Given the description of an element on the screen output the (x, y) to click on. 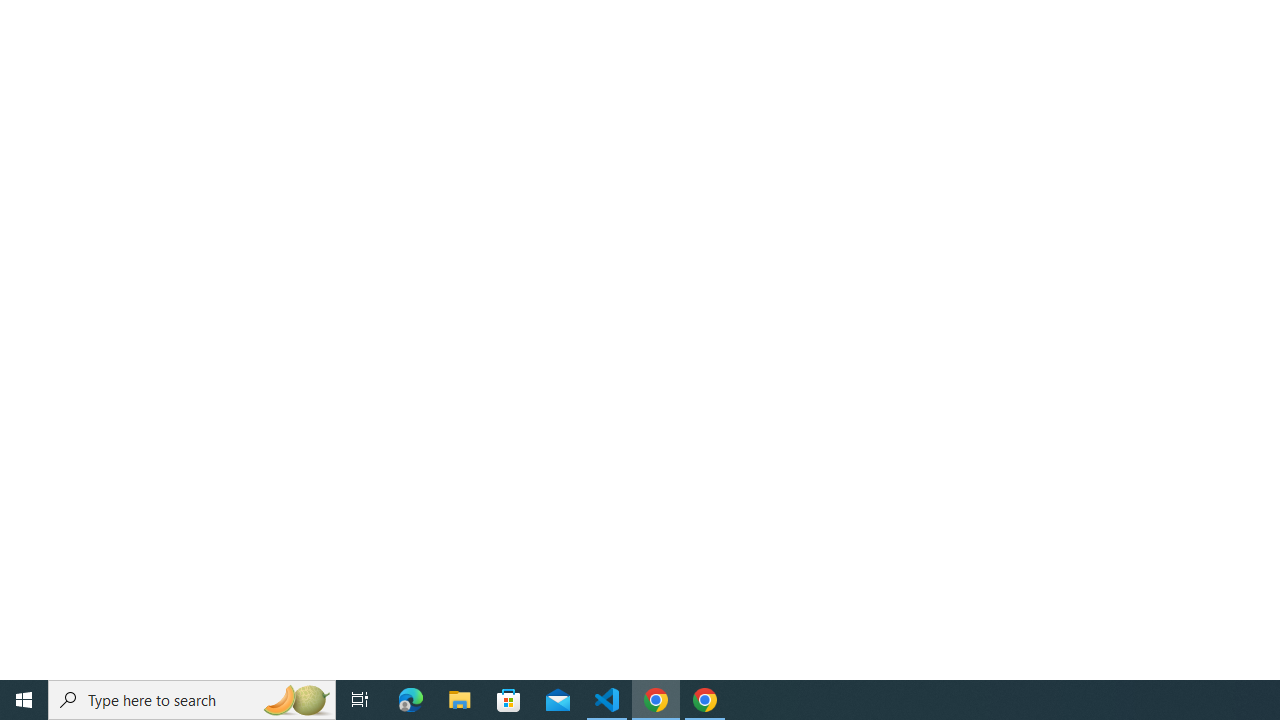
Start (24, 699)
Google Chrome - 1 running window (704, 699)
Search highlights icon opens search home window (295, 699)
Type here to search (191, 699)
Microsoft Store (509, 699)
Visual Studio Code - 1 running window (607, 699)
File Explorer (460, 699)
Microsoft Edge (411, 699)
Task View (359, 699)
